Given the description of an element on the screen output the (x, y) to click on. 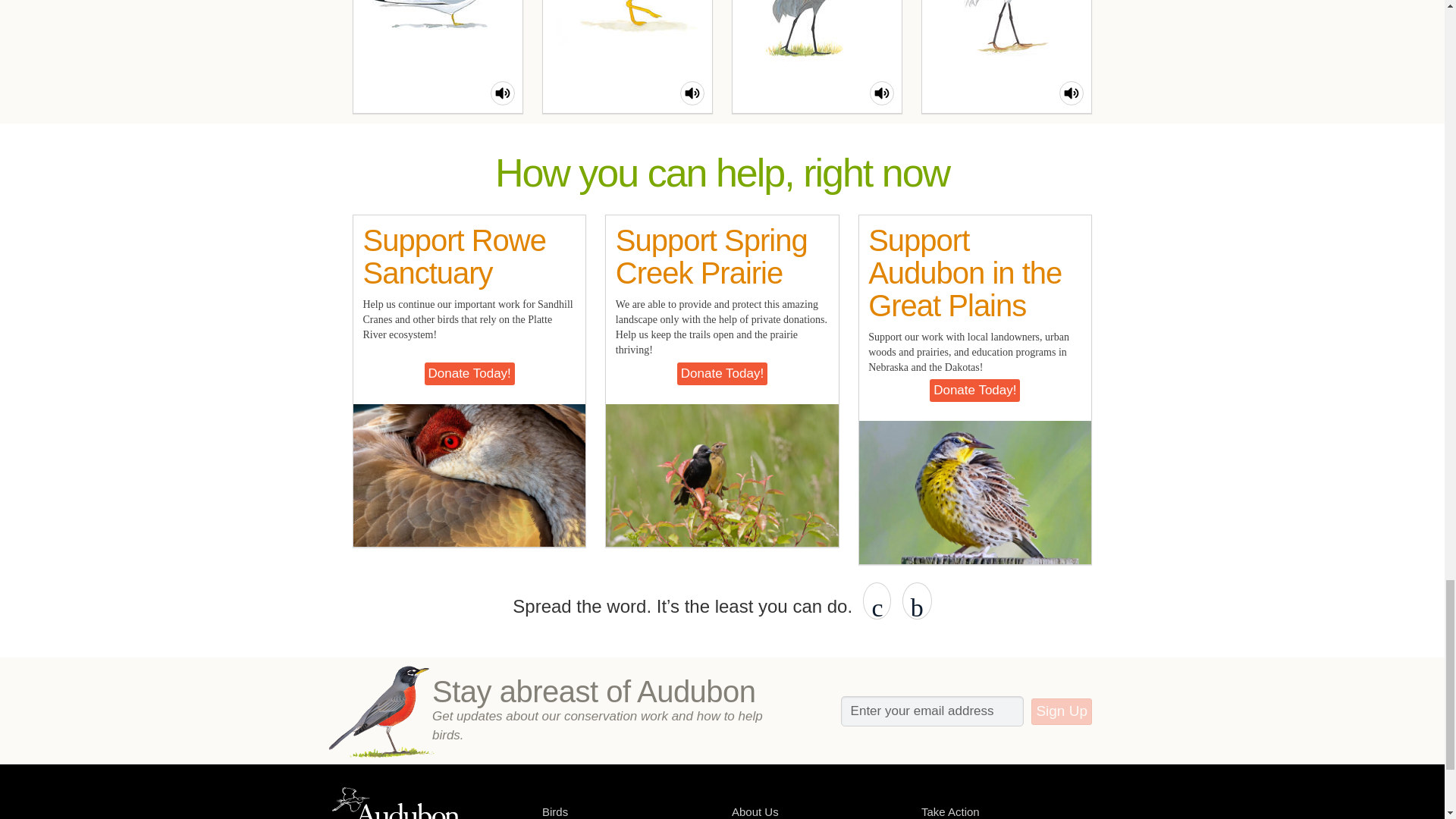
Play Whooping Crane sound (1071, 93)
Sign Up (1061, 711)
Play Least Tern sound (502, 93)
Play Sandhill Crane sound (881, 93)
Play Piping Plover sound (691, 93)
